Given the description of an element on the screen output the (x, y) to click on. 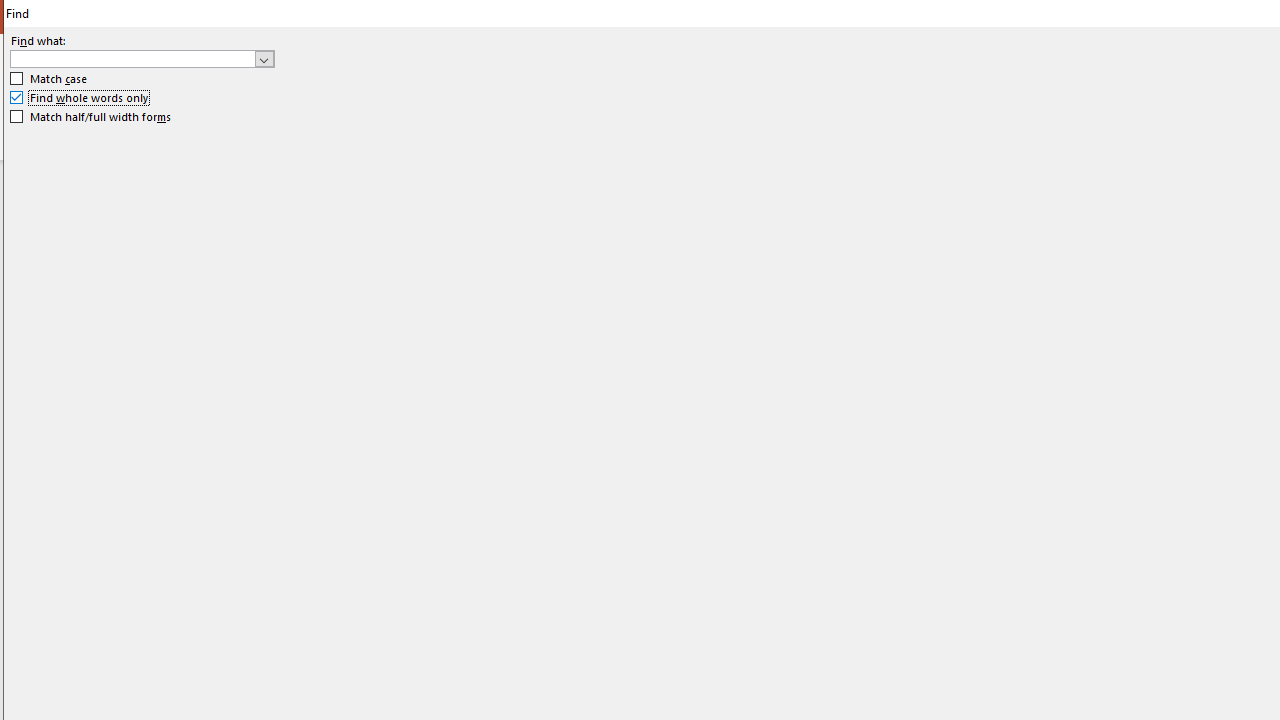
Match case (49, 79)
Find what (132, 58)
Find what (142, 58)
Match half/full width forms (91, 116)
Find whole words only (79, 97)
